Given the description of an element on the screen output the (x, y) to click on. 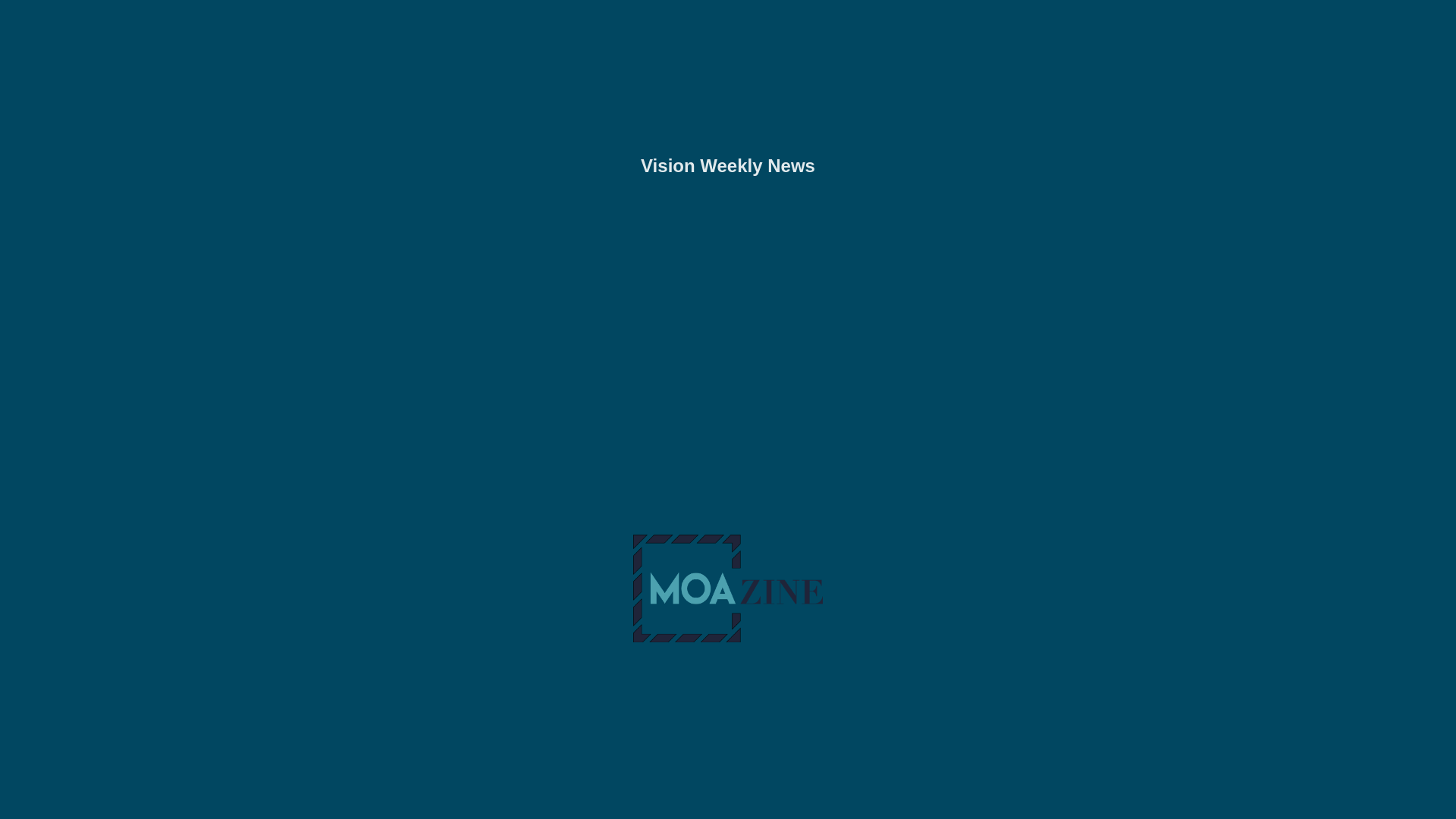
Print Element type: hover (717, 801)
Share Element type: hover (695, 801)
Fullscreen Element type: hover (786, 801)
Zoom In Element type: hover (808, 801)
MOAZINE Element type: text (1387, 18)
Last Page Element type: hover (989, 756)
Next Page Element type: hover (991, 407)
Thumbnails Element type: hover (647, 801)
Toggle Sound Element type: hover (738, 801)
Search Element type: hover (1436, 17)
